Given the description of an element on the screen output the (x, y) to click on. 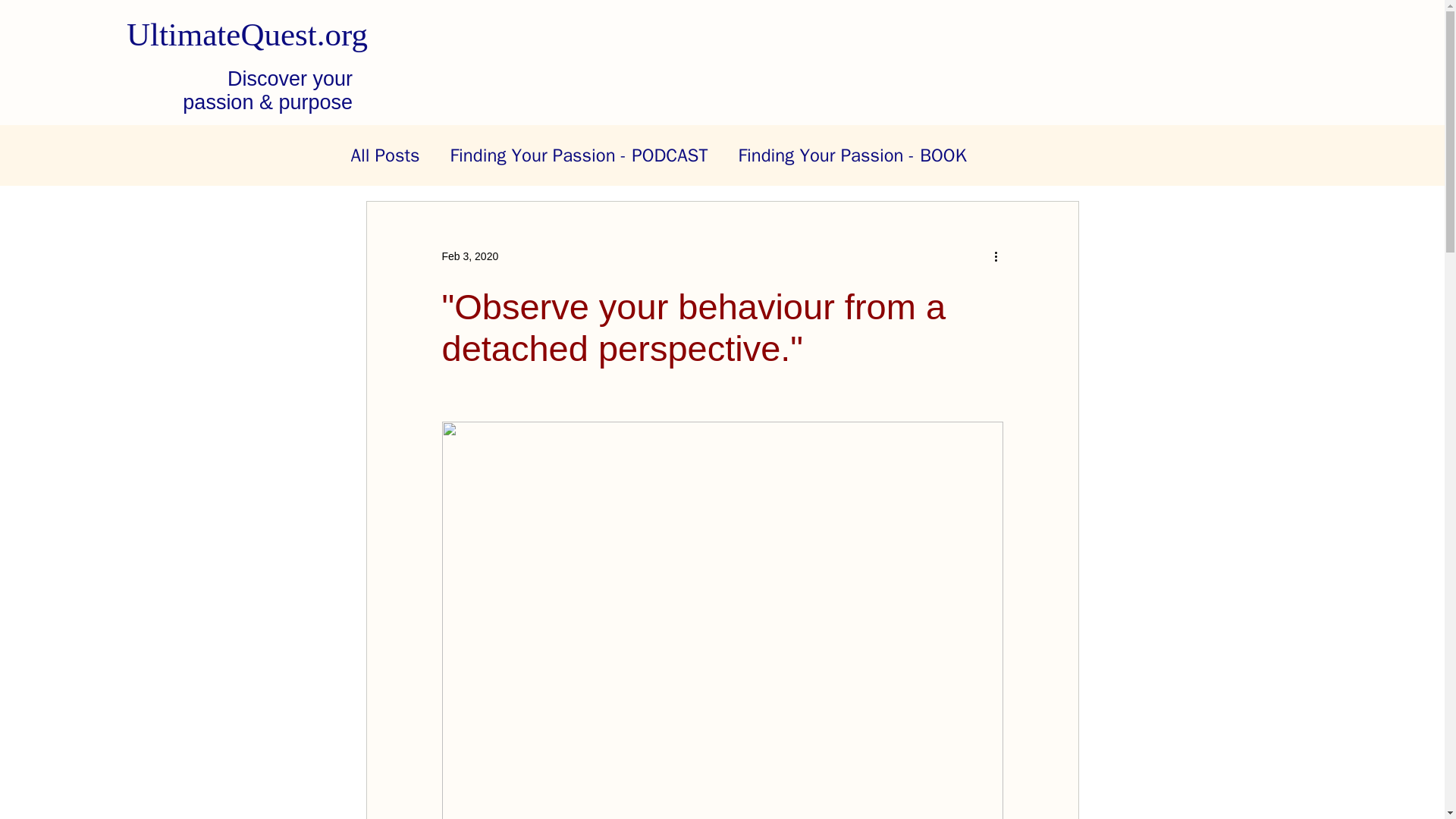
UltimateQuest.org (247, 34)
All Posts (384, 155)
Finding Your Passion - PODCAST (578, 155)
Feb 3, 2020 (469, 256)
Finding Your Passion - BOOK (852, 155)
